Given the description of an element on the screen output the (x, y) to click on. 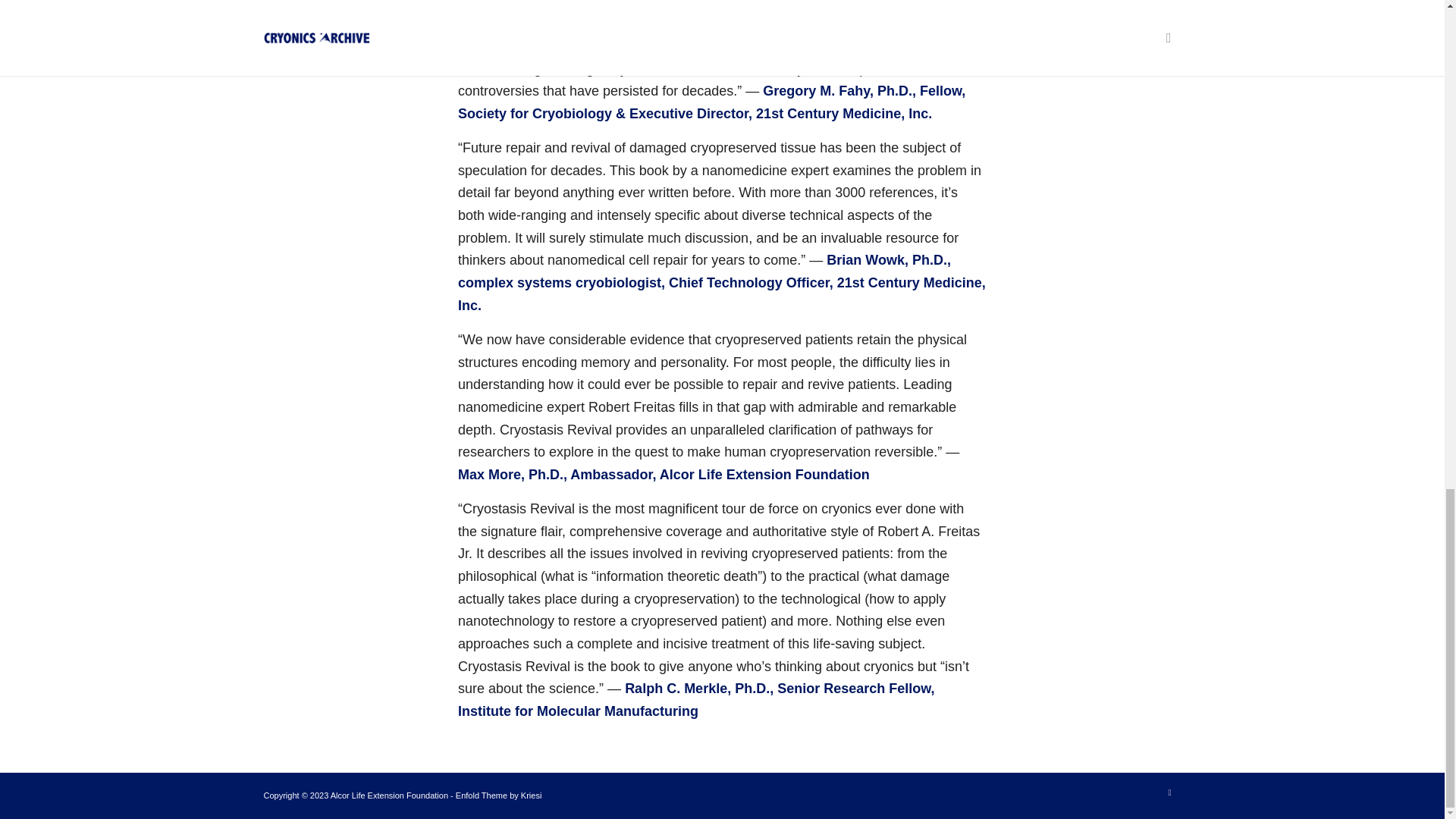
Youtube (1169, 792)
Enfold Theme by Kriesi (498, 795)
